Given the description of an element on the screen output the (x, y) to click on. 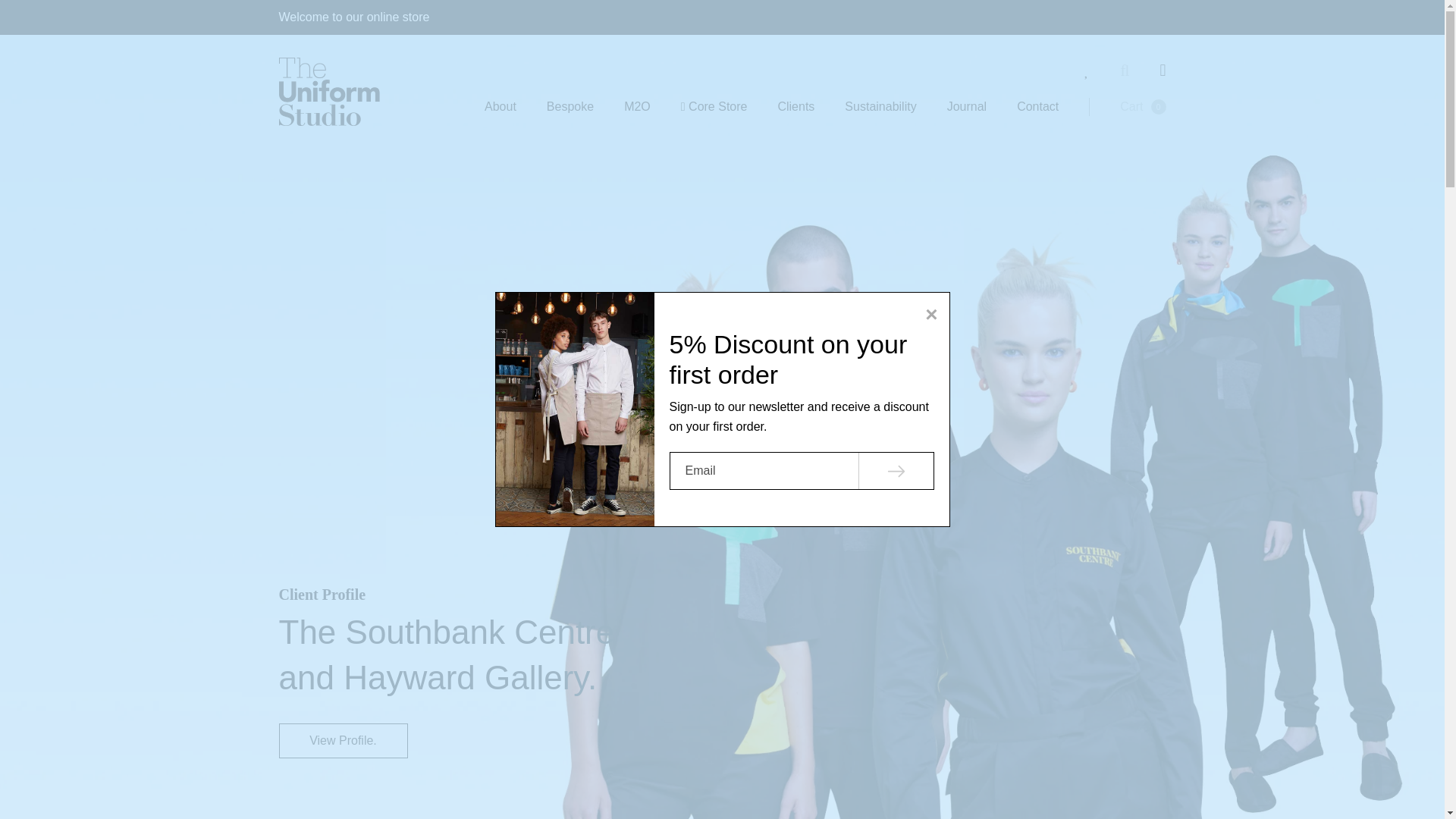
Bespoke (1142, 106)
Sustainability (570, 106)
Journal (879, 106)
Core Store (967, 106)
M2O (714, 106)
View Profile. (637, 106)
Clients (343, 740)
Contact (795, 106)
About (1037, 106)
